Given the description of an element on the screen output the (x, y) to click on. 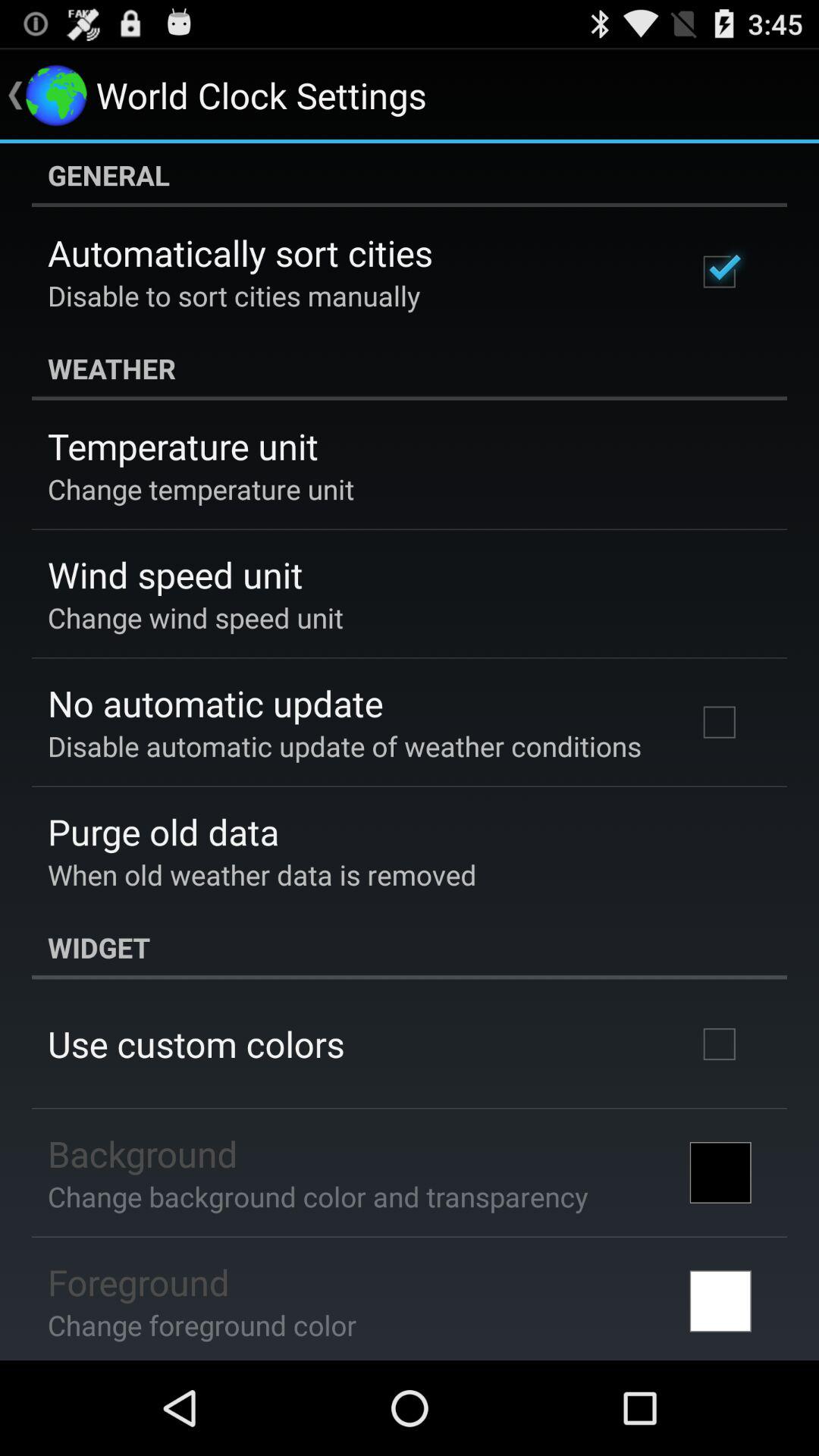
launch the when old weather app (261, 874)
